Given the description of an element on the screen output the (x, y) to click on. 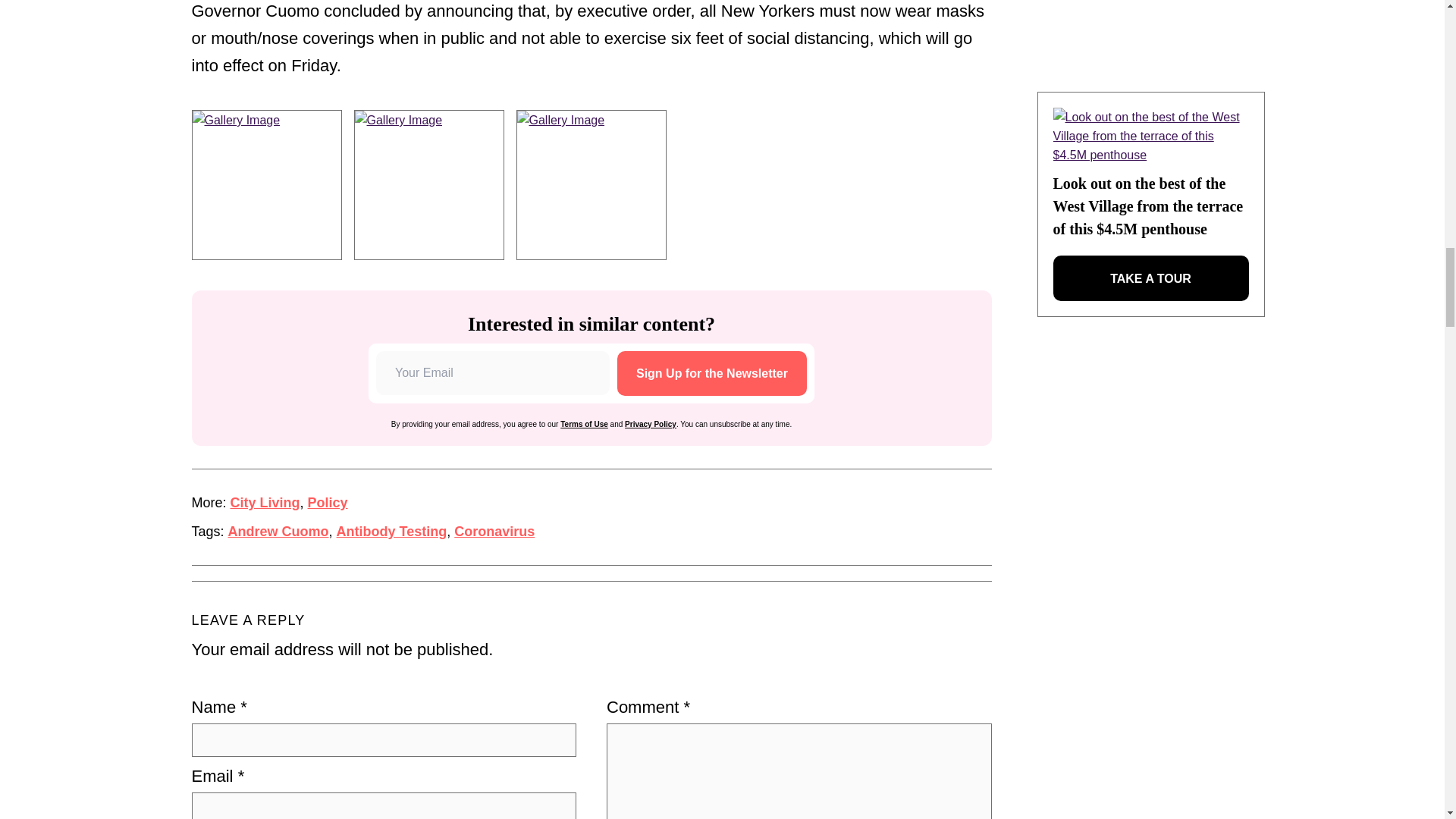
Terms of Use (584, 424)
Andrew Cuomo (278, 531)
Privacy Policy (650, 424)
Sign Up for the Newsletter (711, 373)
City Living (264, 502)
Sign Up for the Newsletter (711, 373)
Antibody Testing (391, 531)
Policy (327, 502)
Coronavirus (494, 531)
